Given the description of an element on the screen output the (x, y) to click on. 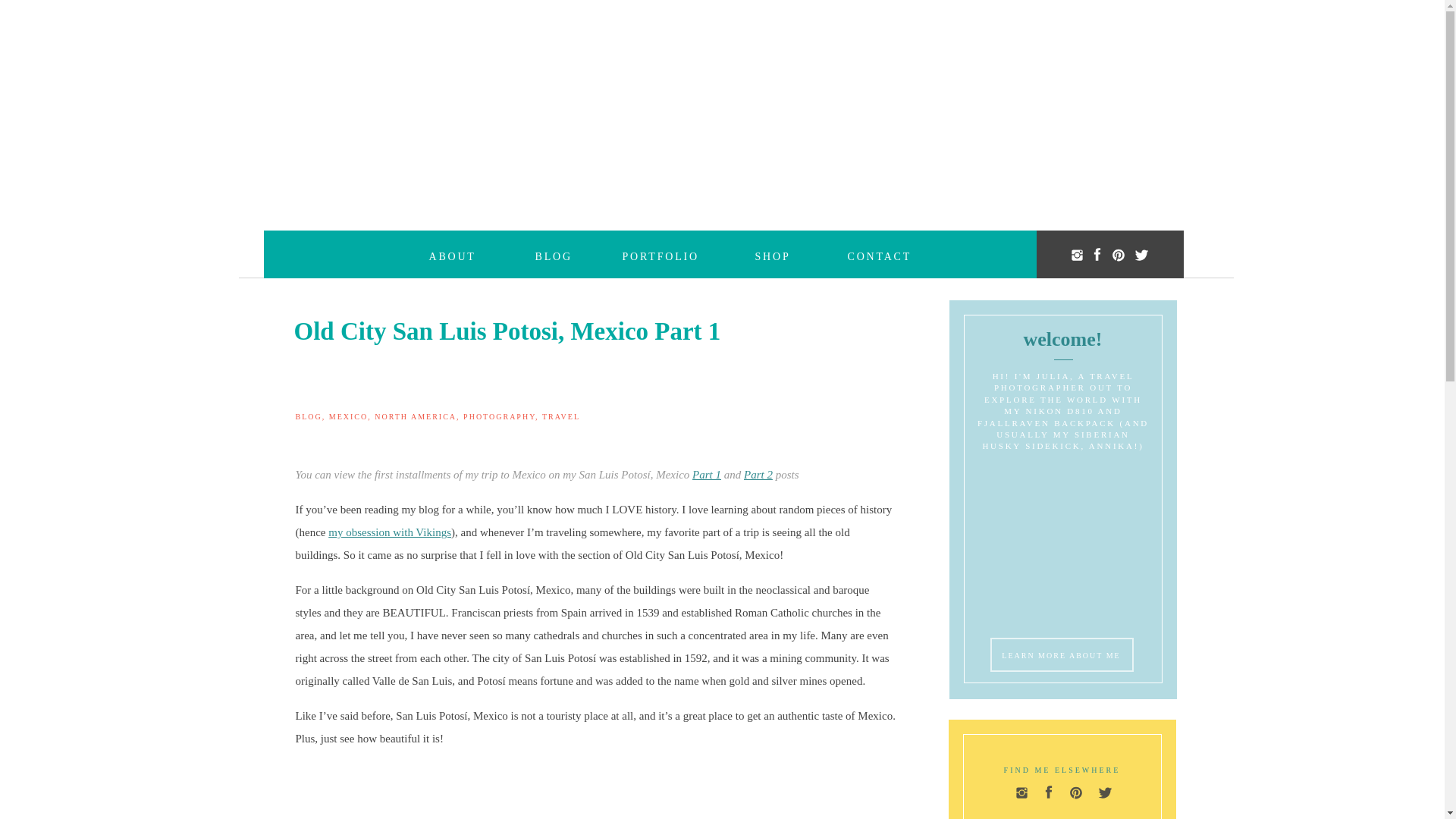
BLOG (578, 254)
ABOUT (458, 254)
PORTFOLIO (667, 254)
CONTACT (881, 254)
SHOP (782, 254)
